Given the description of an element on the screen output the (x, y) to click on. 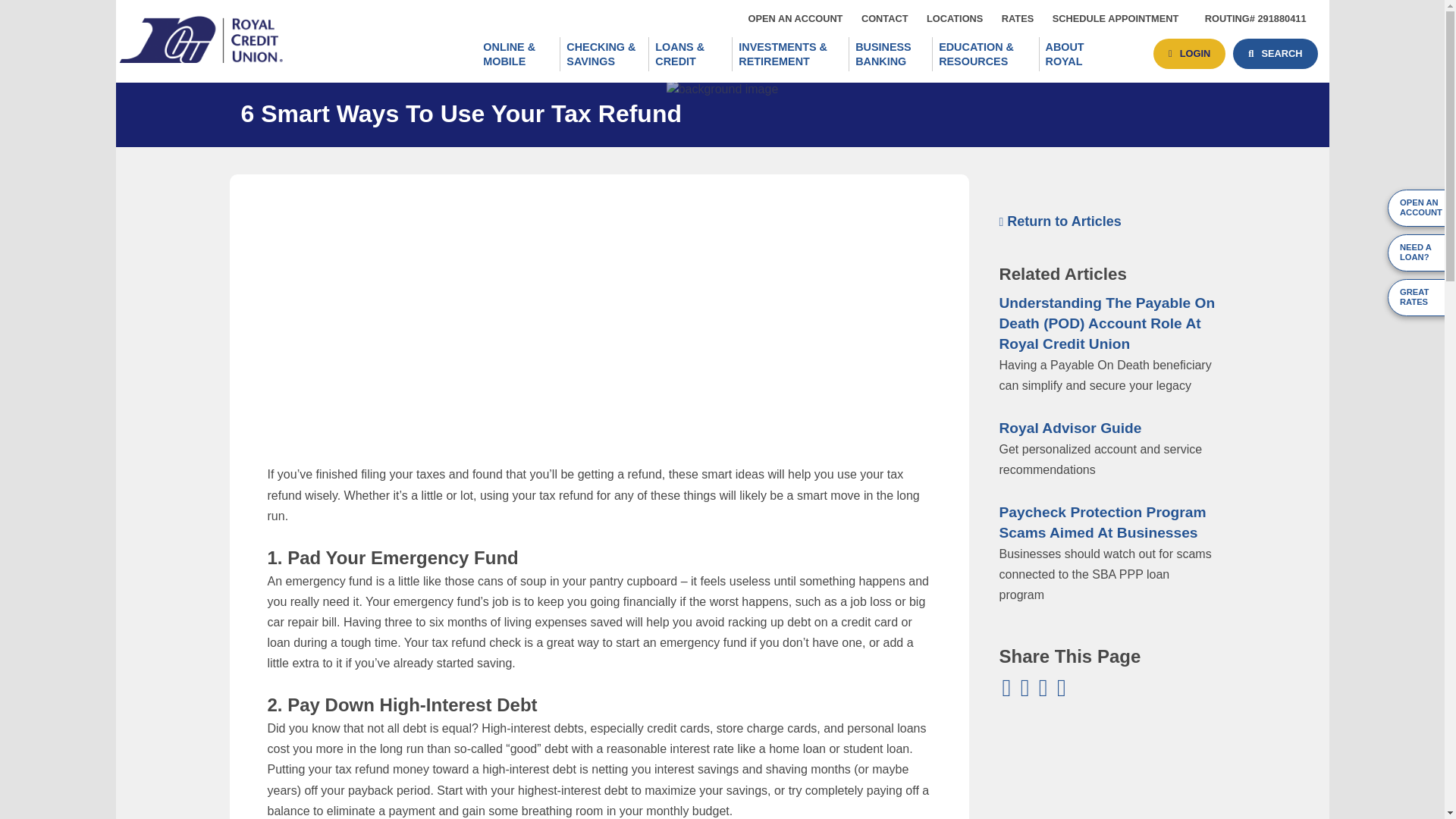
RCU (1017, 18)
